Given the description of an element on the screen output the (x, y) to click on. 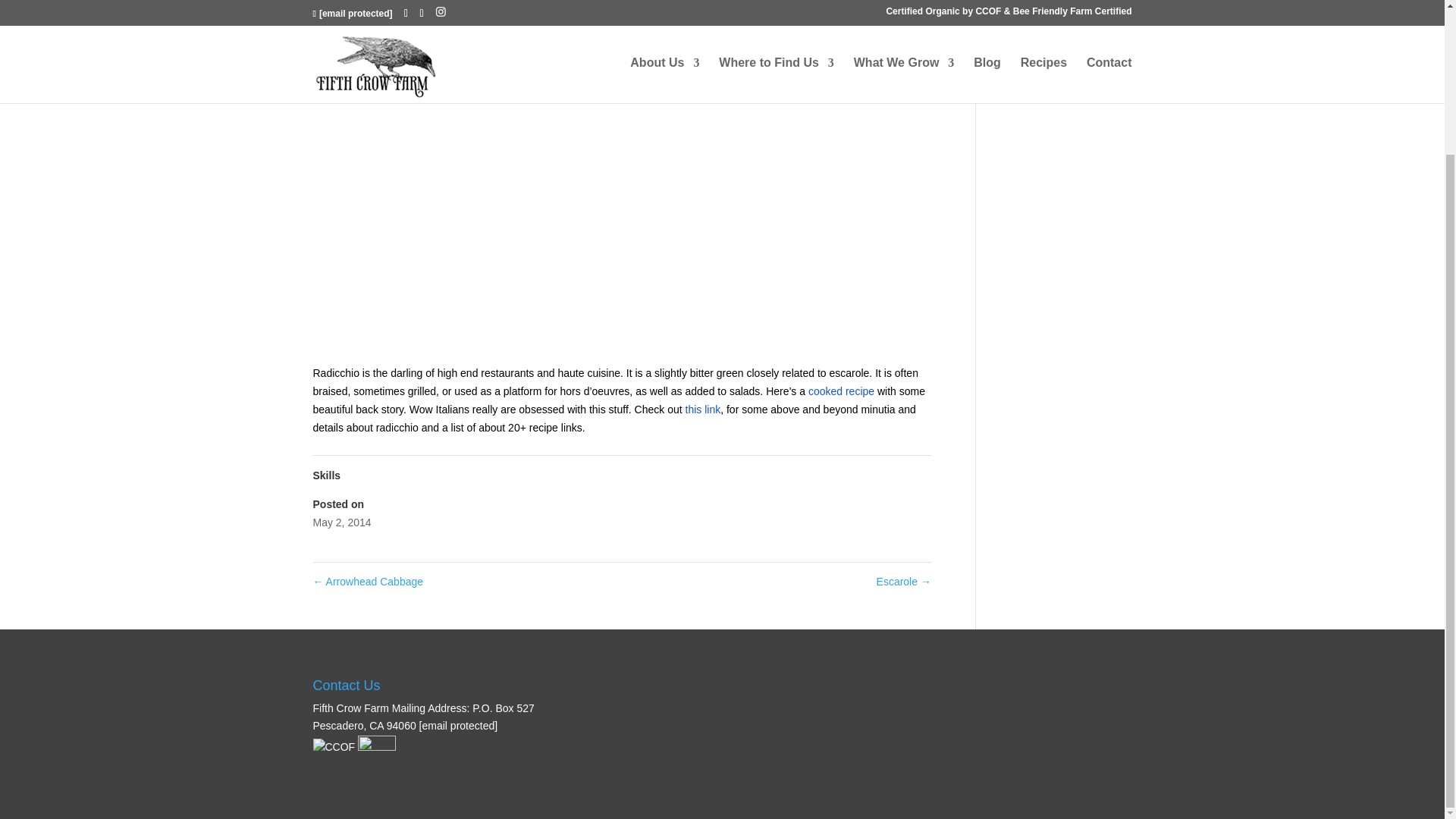
this link (702, 409)
Flowers (1016, 24)
California Certified Organic Farmers (334, 747)
Pasture Raised Eggs (1048, 3)
cooked recipe (841, 390)
Bee Friendly Farming (377, 754)
Dry Beans (1023, 47)
